Given the description of an element on the screen output the (x, y) to click on. 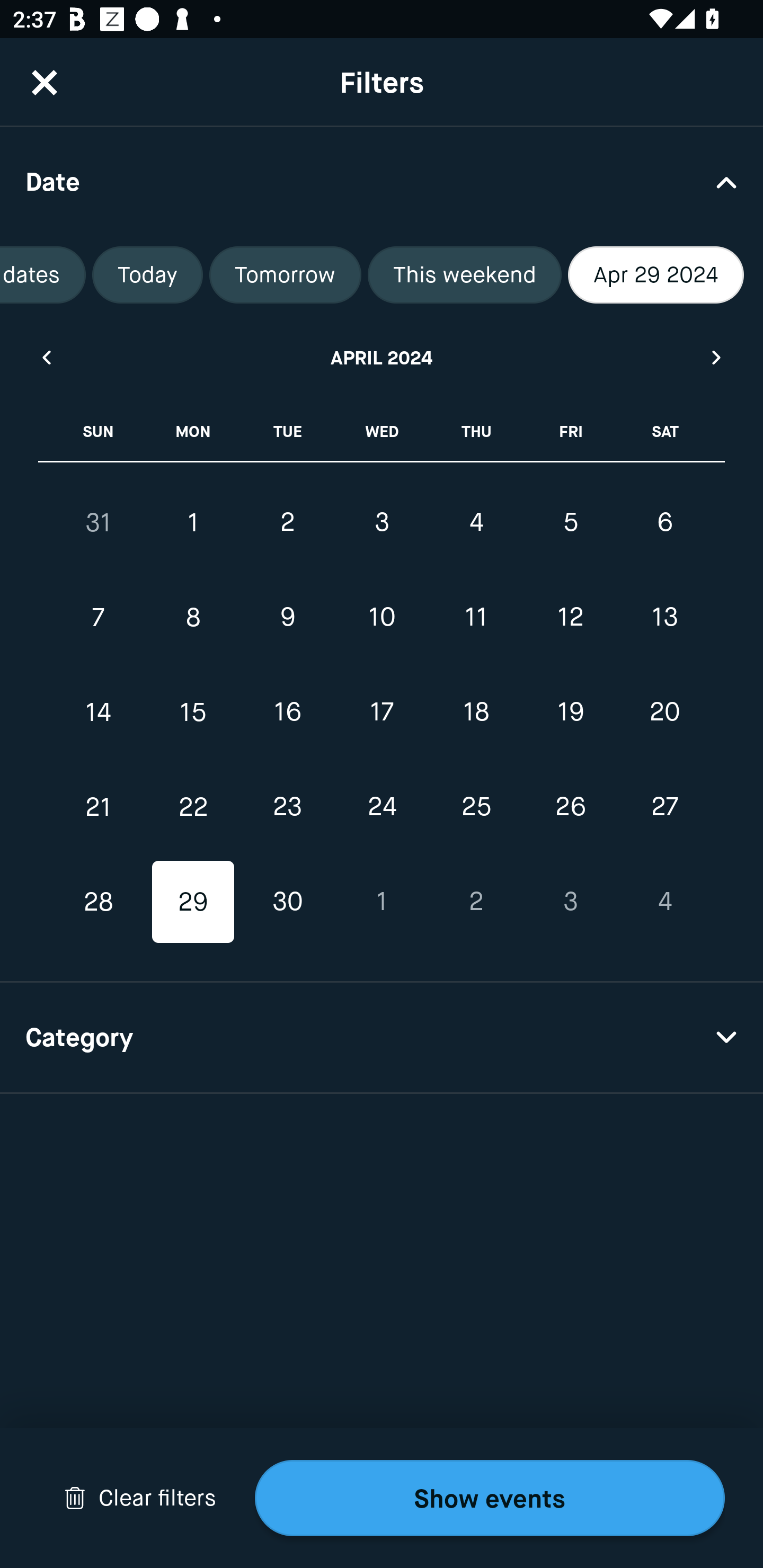
CloseButton (44, 82)
Date Drop Down Arrow (381, 181)
Today (147, 274)
Tomorrow (285, 274)
This weekend (464, 274)
Apr 29 2024 (655, 274)
Previous (45, 357)
Next (717, 357)
31 (98, 522)
1 (192, 522)
2 (287, 522)
3 (381, 522)
4 (475, 522)
5 (570, 522)
6 (664, 522)
7 (98, 617)
8 (192, 617)
9 (287, 617)
10 (381, 617)
11 (475, 617)
12 (570, 617)
13 (664, 617)
14 (98, 711)
15 (192, 711)
16 (287, 711)
17 (381, 711)
18 (475, 711)
19 (570, 711)
20 (664, 711)
21 (98, 806)
22 (192, 806)
23 (287, 806)
24 (381, 806)
25 (475, 806)
26 (570, 806)
27 (664, 806)
28 (98, 901)
29 (192, 901)
30 (287, 901)
1 (381, 901)
2 (475, 901)
3 (570, 901)
4 (664, 901)
Category Drop Down Arrow (381, 1038)
Drop Down Arrow Clear filters (139, 1497)
Show events (489, 1497)
